Given the description of an element on the screen output the (x, y) to click on. 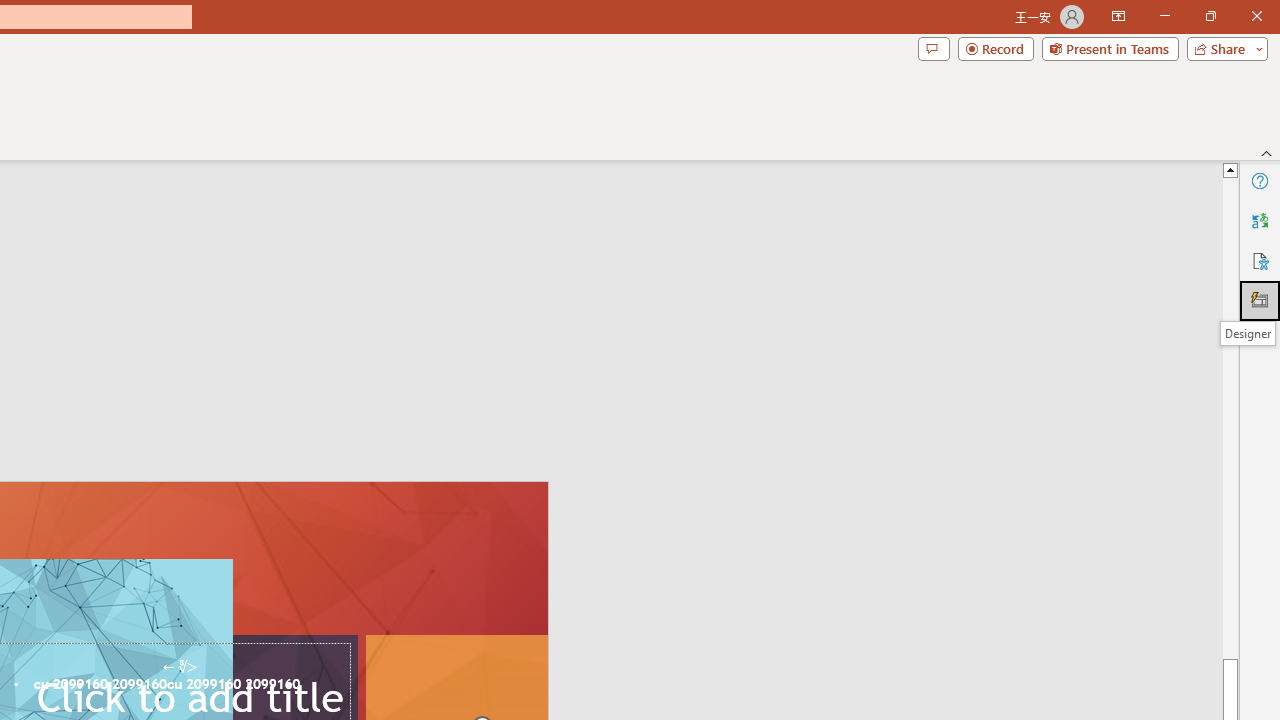
TextBox 61 (186, 686)
TextBox 7 (179, 667)
